Given the description of an element on the screen output the (x, y) to click on. 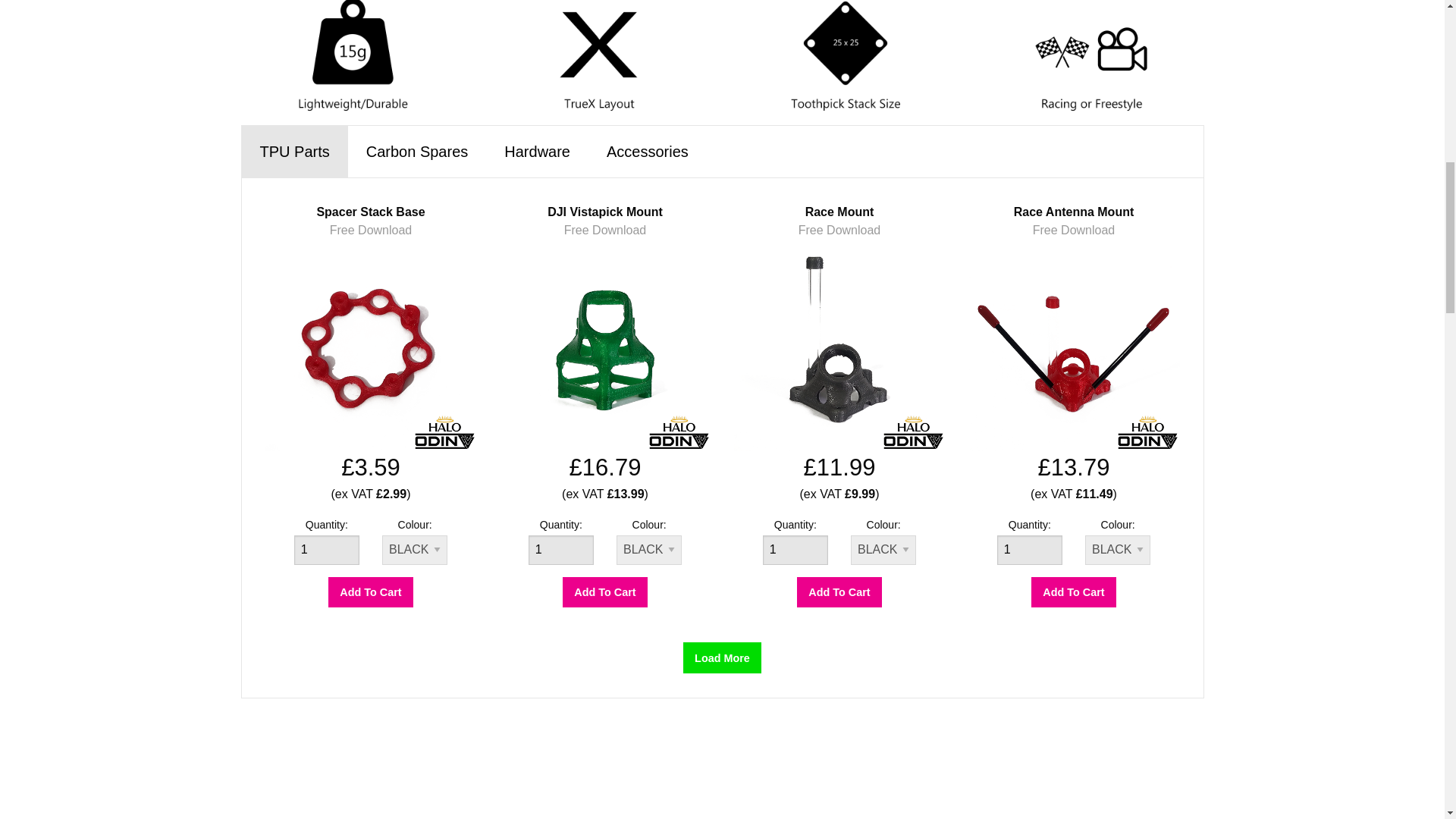
TPU Parts (294, 151)
Free Download (371, 229)
1 (1029, 550)
1 (795, 550)
1 (326, 550)
Accessories (647, 151)
1 (561, 550)
Hardware (537, 151)
Carbon Spares (416, 151)
